Given the description of an element on the screen output the (x, y) to click on. 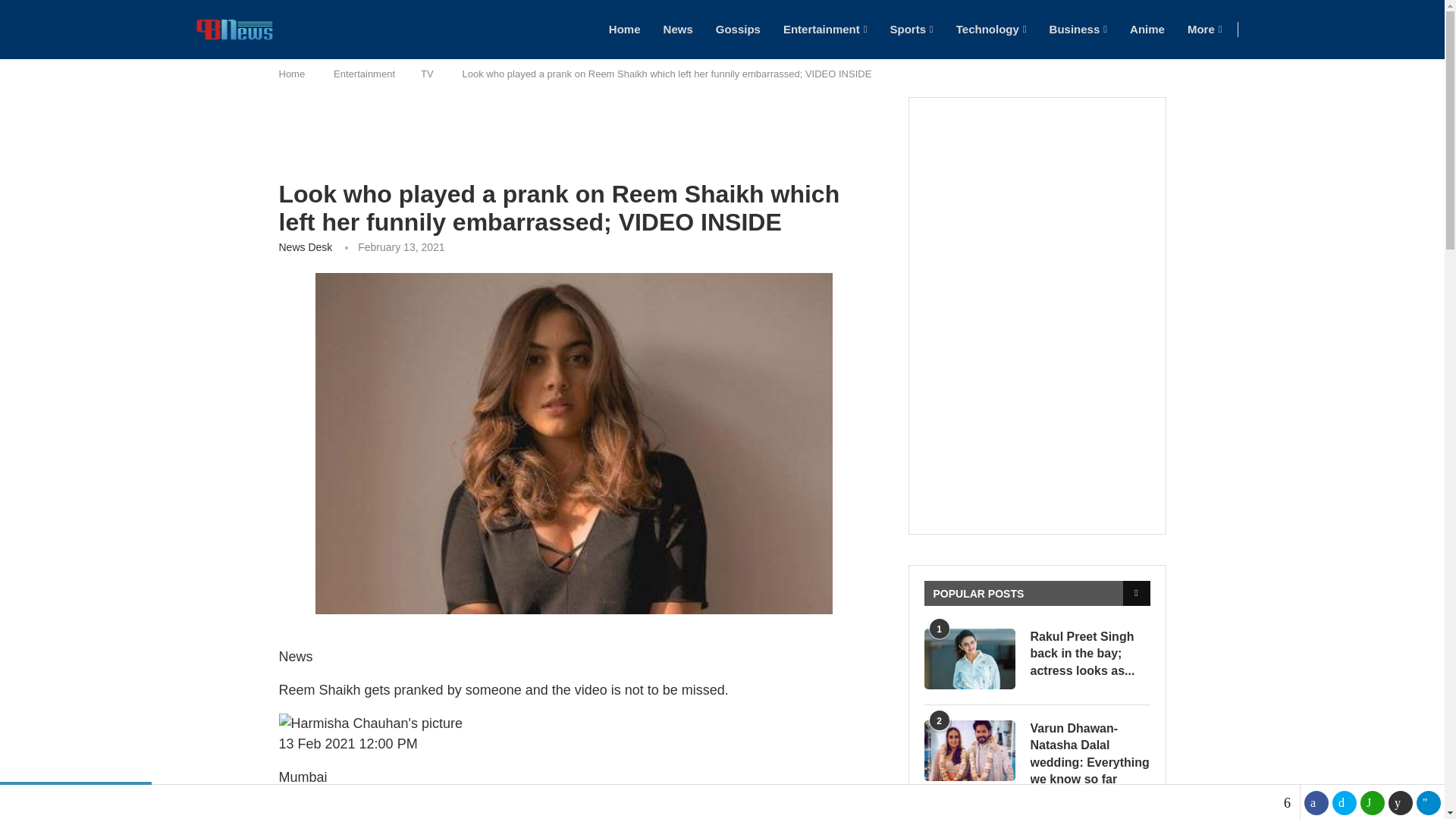
Sports (911, 29)
Harmisha Chauhan's picture (371, 723)
Advertisement (1056, 417)
Entertainment (825, 29)
Gossips (738, 29)
Advertisement (574, 137)
